Given the description of an element on the screen output the (x, y) to click on. 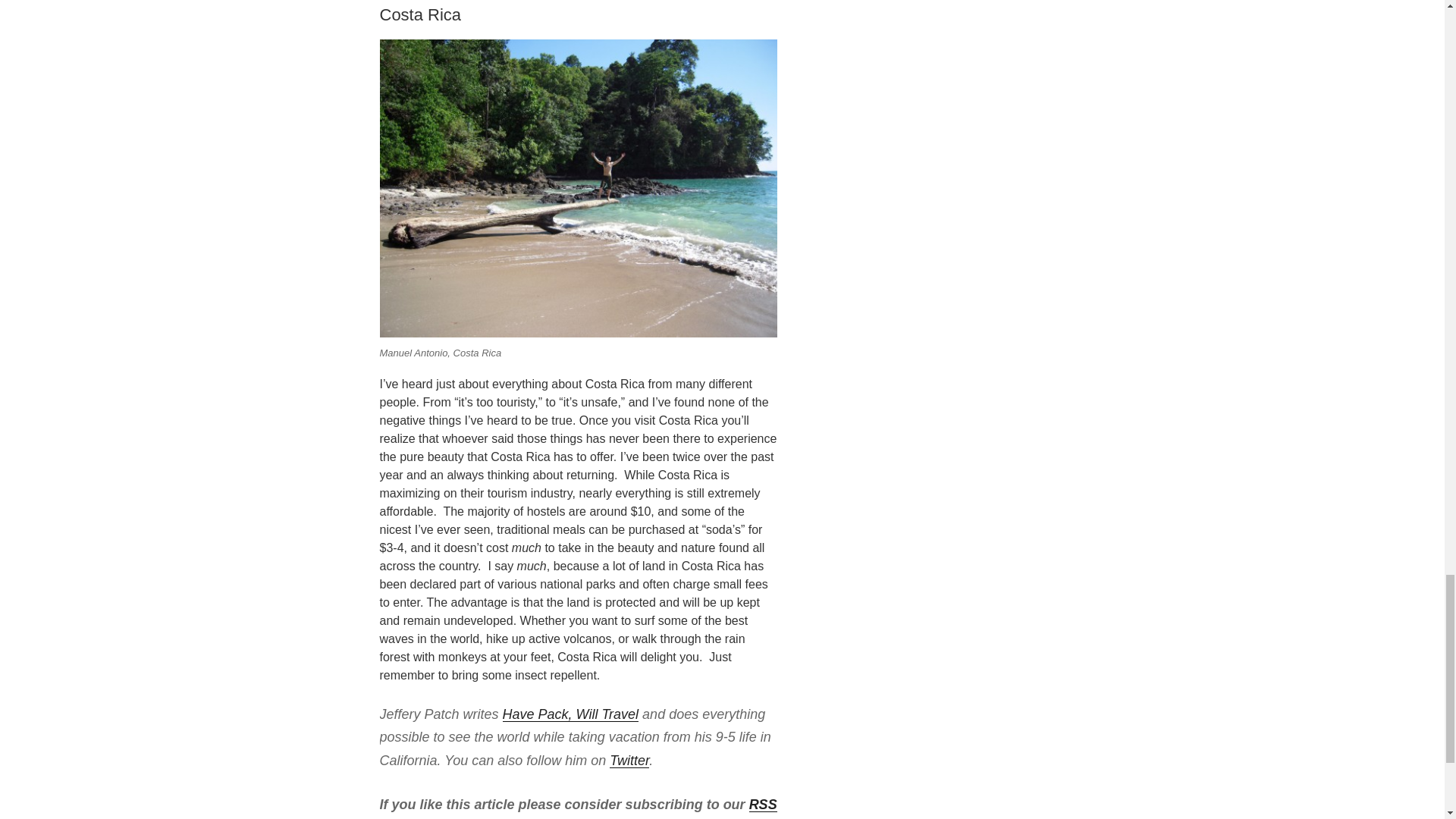
RSS or Email feed (577, 807)
Have Pack, Will Travel (570, 713)
Twitter (629, 760)
HavePack FeedBurner Feed (577, 807)
dscn0798 (577, 188)
Have Pack, Will Travel (570, 713)
